Given the description of an element on the screen output the (x, y) to click on. 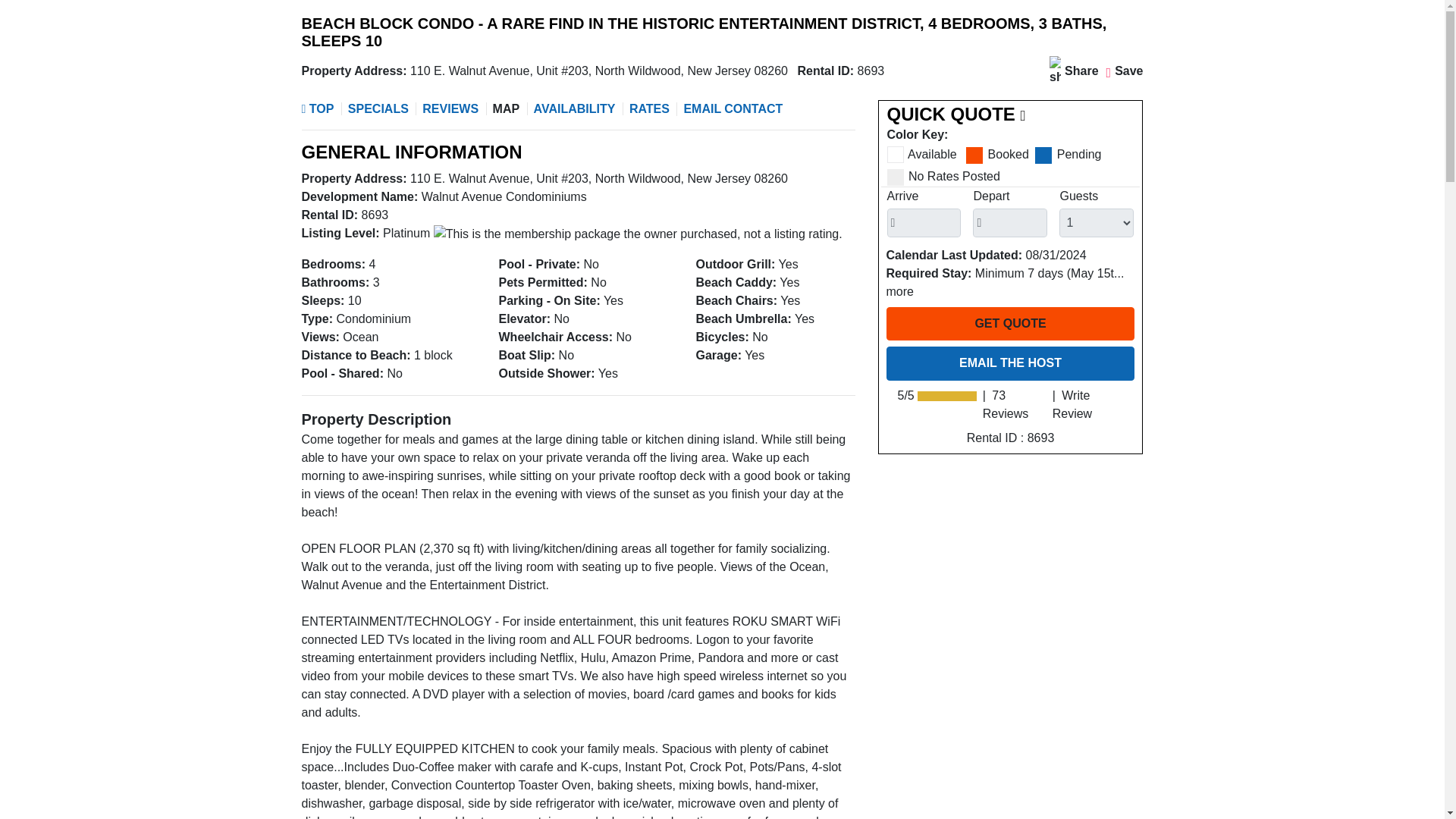
Save (1124, 71)
more (898, 291)
MAP (505, 108)
Write Review (1072, 404)
EMAIL THE HOST (1009, 363)
EMAIL CONTACT (731, 109)
SPECIALS (376, 108)
GET QUOTE (1009, 323)
Add to Wish List (1124, 71)
